Given the description of an element on the screen output the (x, y) to click on. 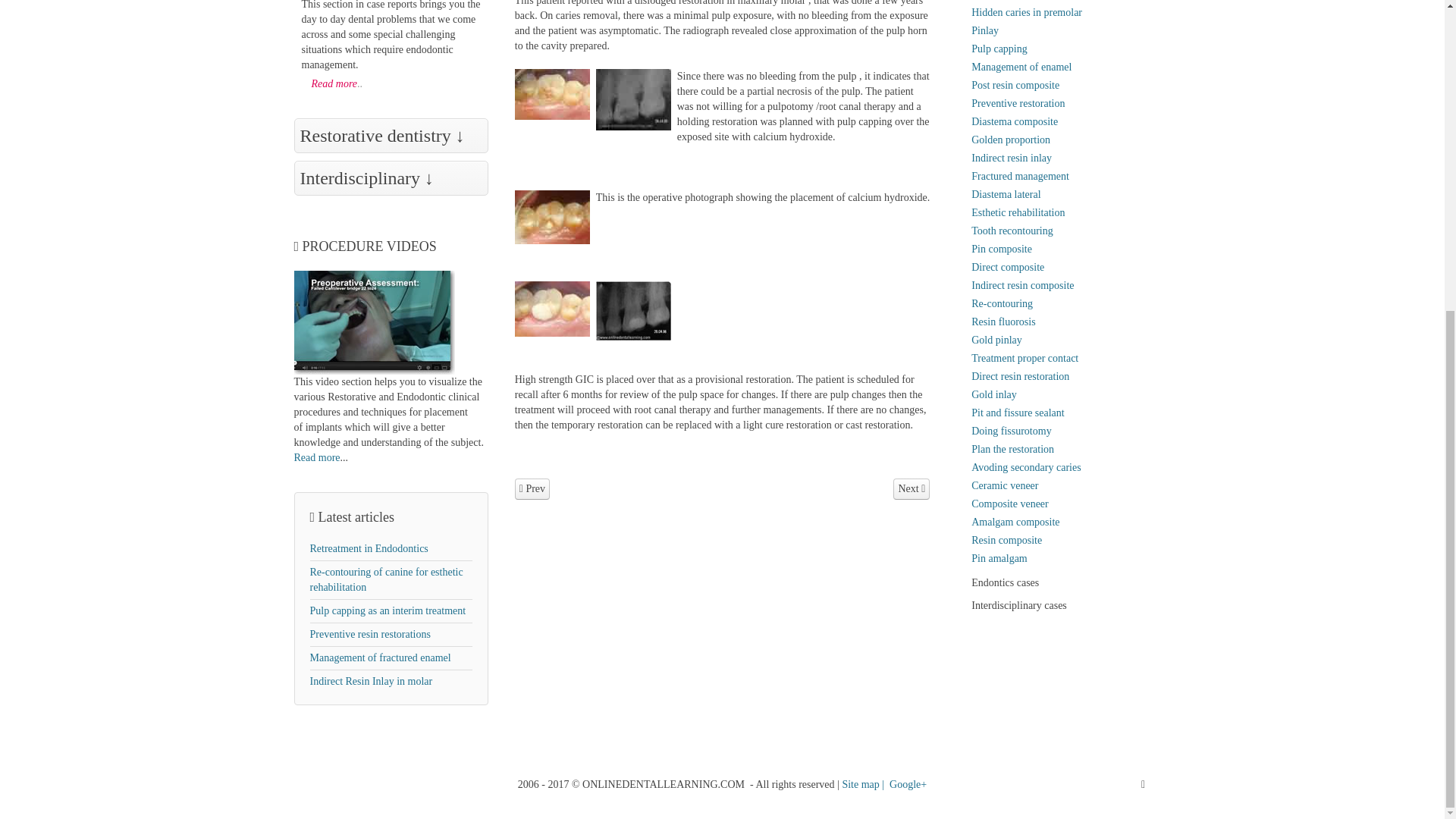
click to enlarge (633, 99)
click to enlarge (552, 217)
click to enlarge (633, 310)
click to enlarge (552, 308)
click to enlarge (552, 93)
